Given the description of an element on the screen output the (x, y) to click on. 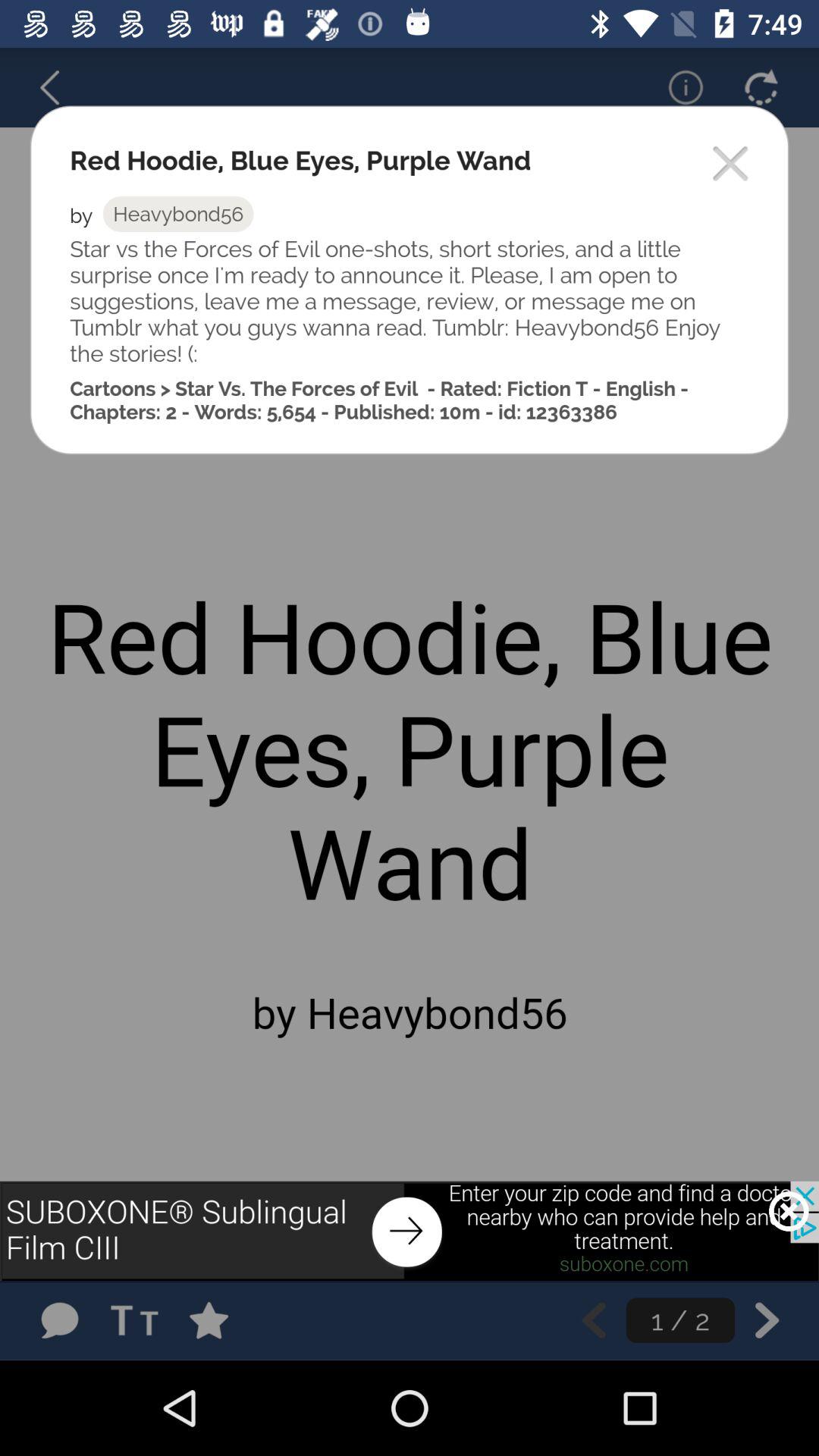
click advertisement (409, 1230)
